Given the description of an element on the screen output the (x, y) to click on. 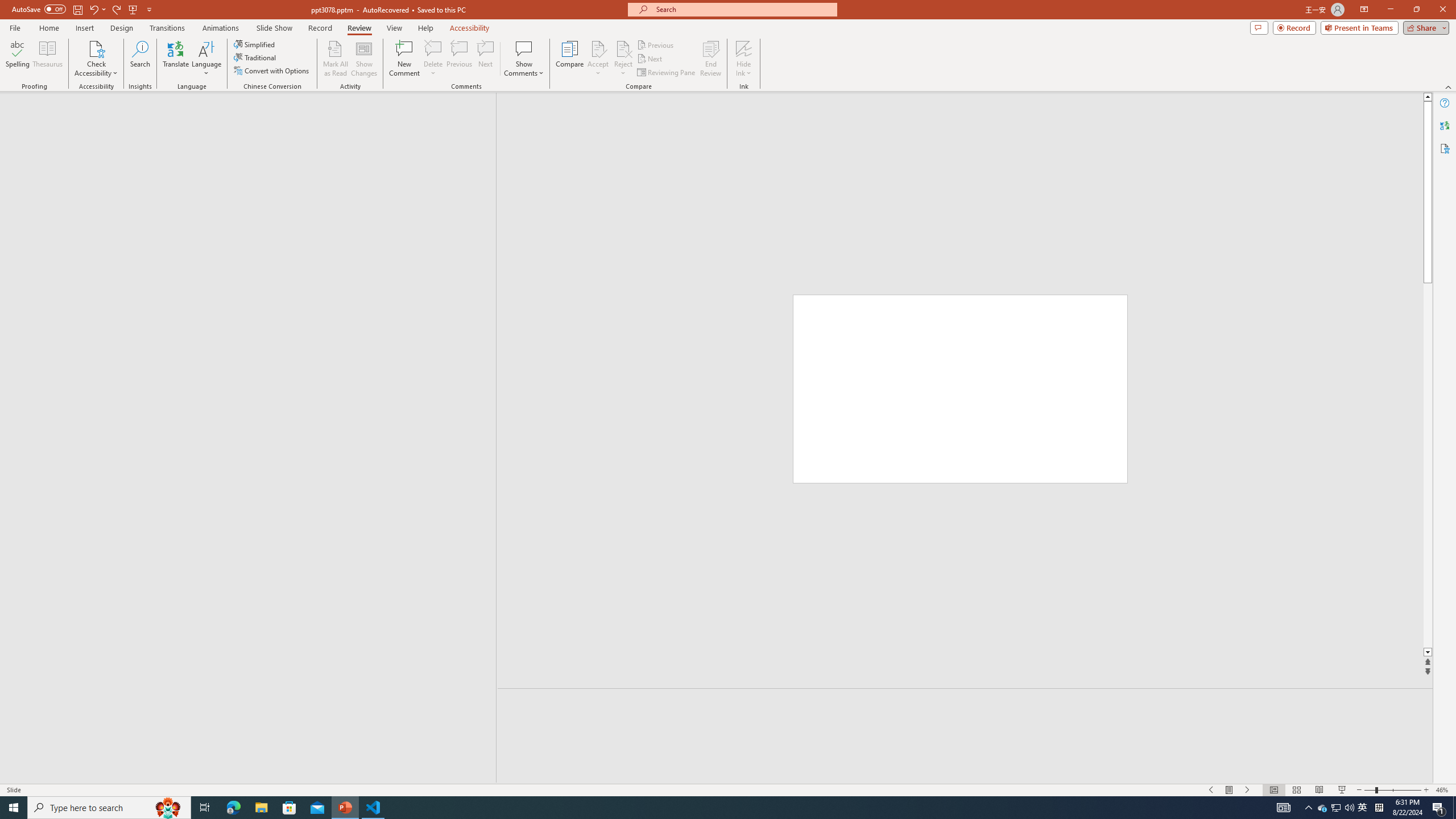
Show Changes (363, 58)
Hide Ink (743, 58)
Check Accessibility (95, 48)
End Review (710, 58)
Page down (1427, 465)
Slide Show Previous On (1211, 790)
Convert with Options... (272, 69)
